Given the description of an element on the screen output the (x, y) to click on. 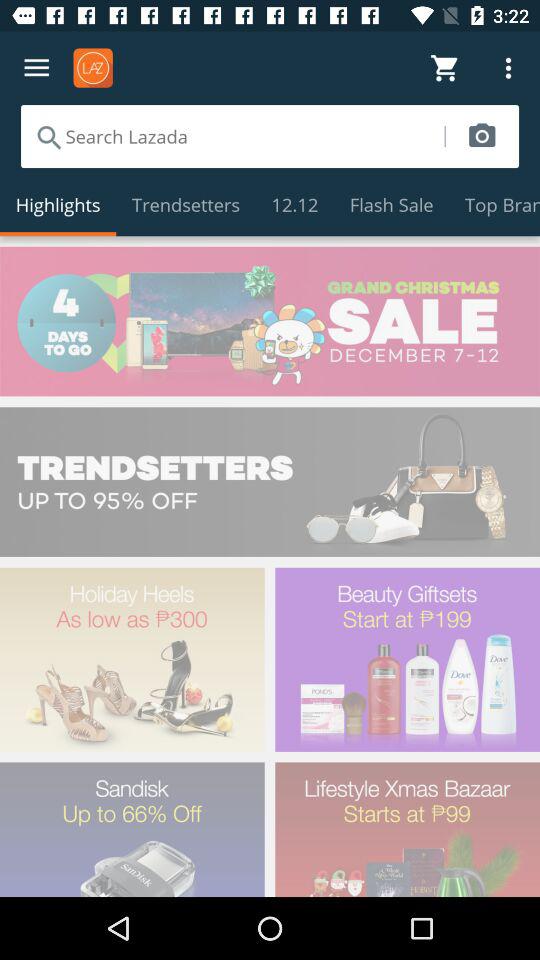
direct to x shopping (270, 481)
